Given the description of an element on the screen output the (x, y) to click on. 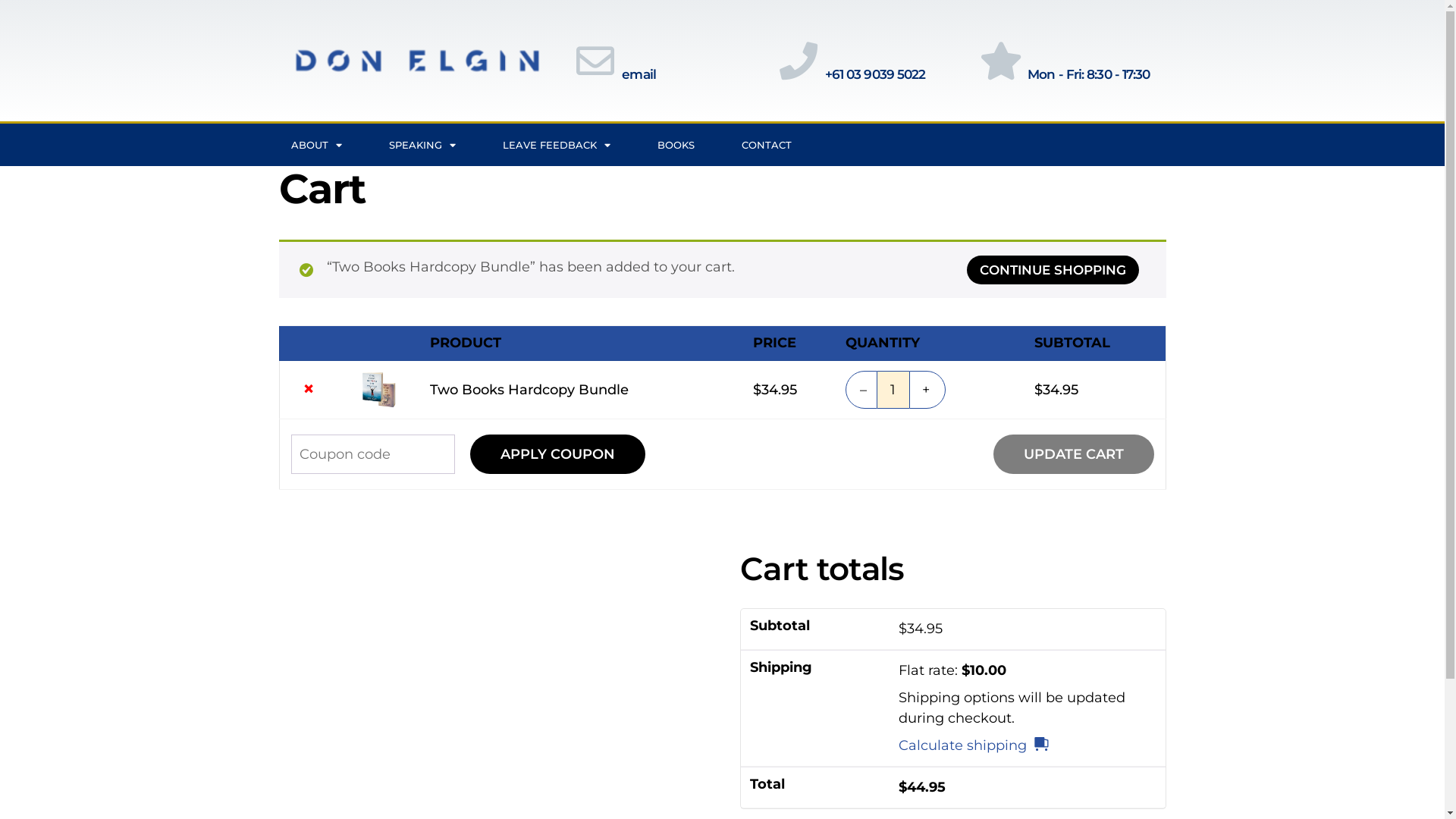
BOOKS Element type: text (675, 144)
APPLY COUPON Element type: text (557, 453)
UPDATE CART Element type: text (1073, 453)
ABOUT Element type: text (315, 144)
Calculate shipping Element type: text (973, 745)
Two Books Hardcopy Bundle Element type: text (528, 388)
Qty Element type: hover (893, 389)
Don Elgin logo for website clear Element type: hover (417, 60)
LEAVE FEEDBACK Element type: text (556, 144)
CONTACT Element type: text (765, 144)
SPEAKING Element type: text (422, 144)
email Element type: text (638, 73)
+61 03 9039 5022 Element type: text (875, 73)
CONTINUE SHOPPING Element type: text (1052, 269)
